Given the description of an element on the screen output the (x, y) to click on. 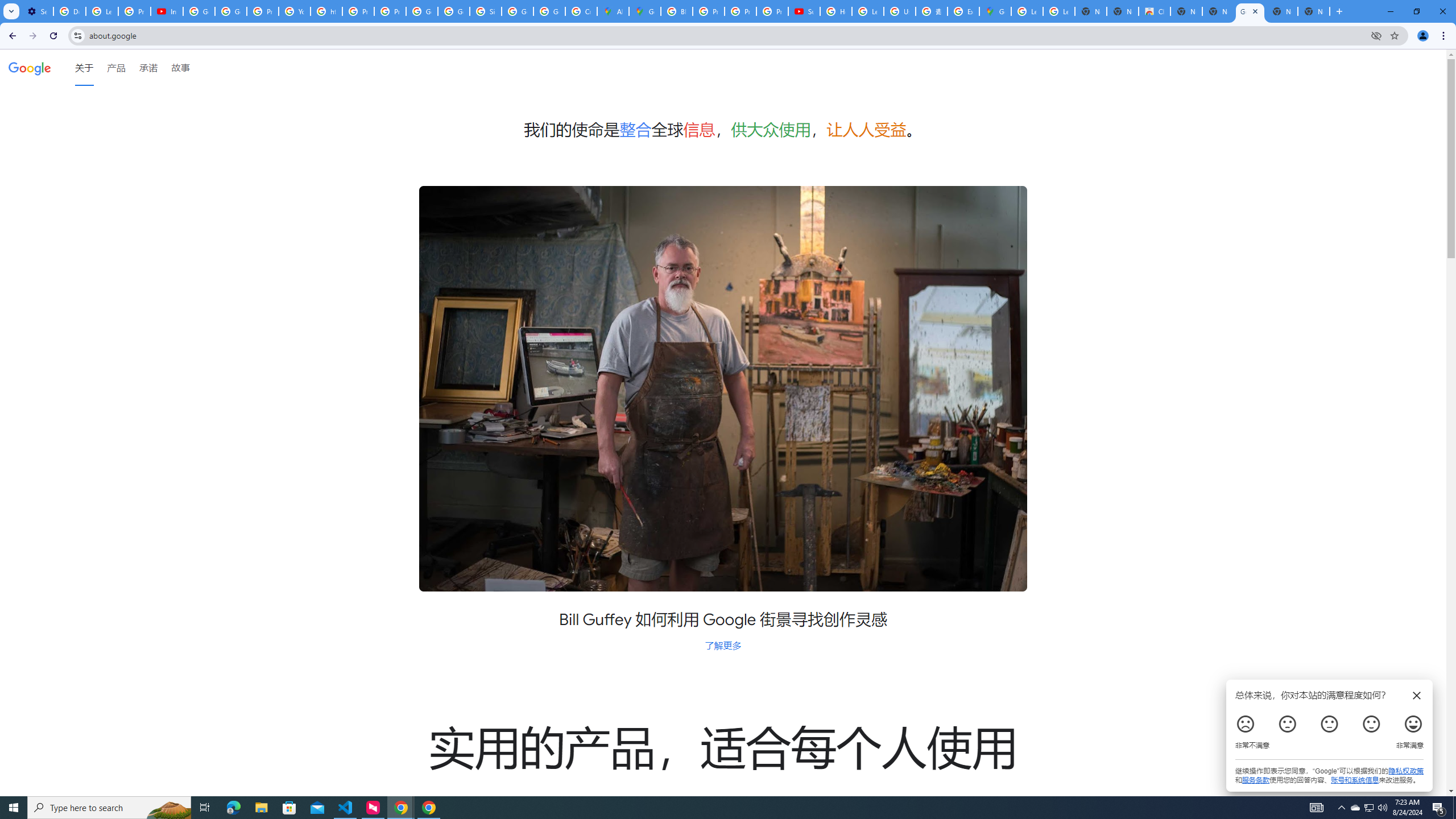
https://scholar.google.com/ (326, 11)
Introduction | Google Privacy Policy - YouTube (166, 11)
Learn how to find your photos - Google Photos Help (101, 11)
